Given the description of an element on the screen output the (x, y) to click on. 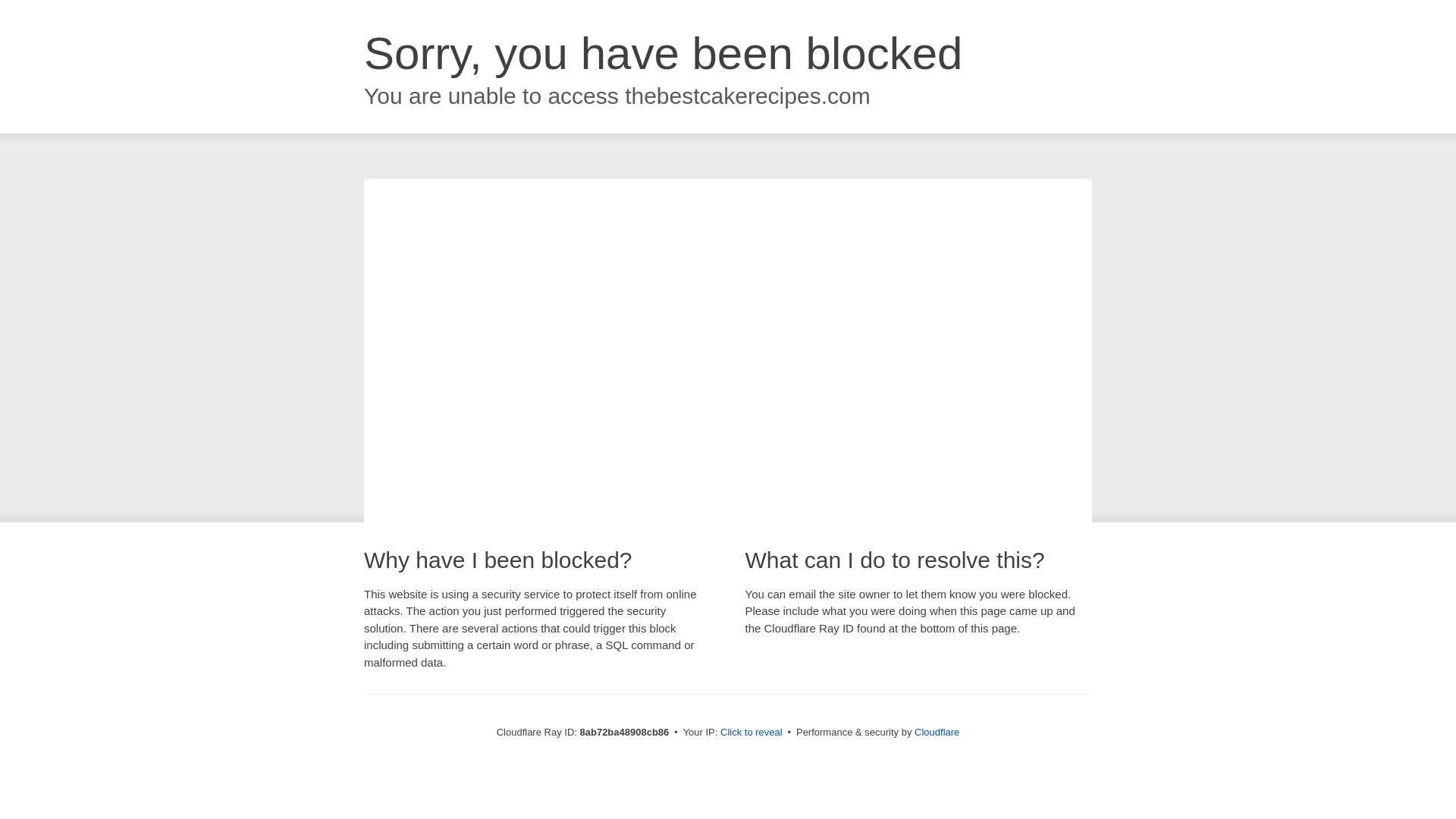
Click to reveal (751, 732)
Cloudflare (936, 731)
